Given the description of an element on the screen output the (x, y) to click on. 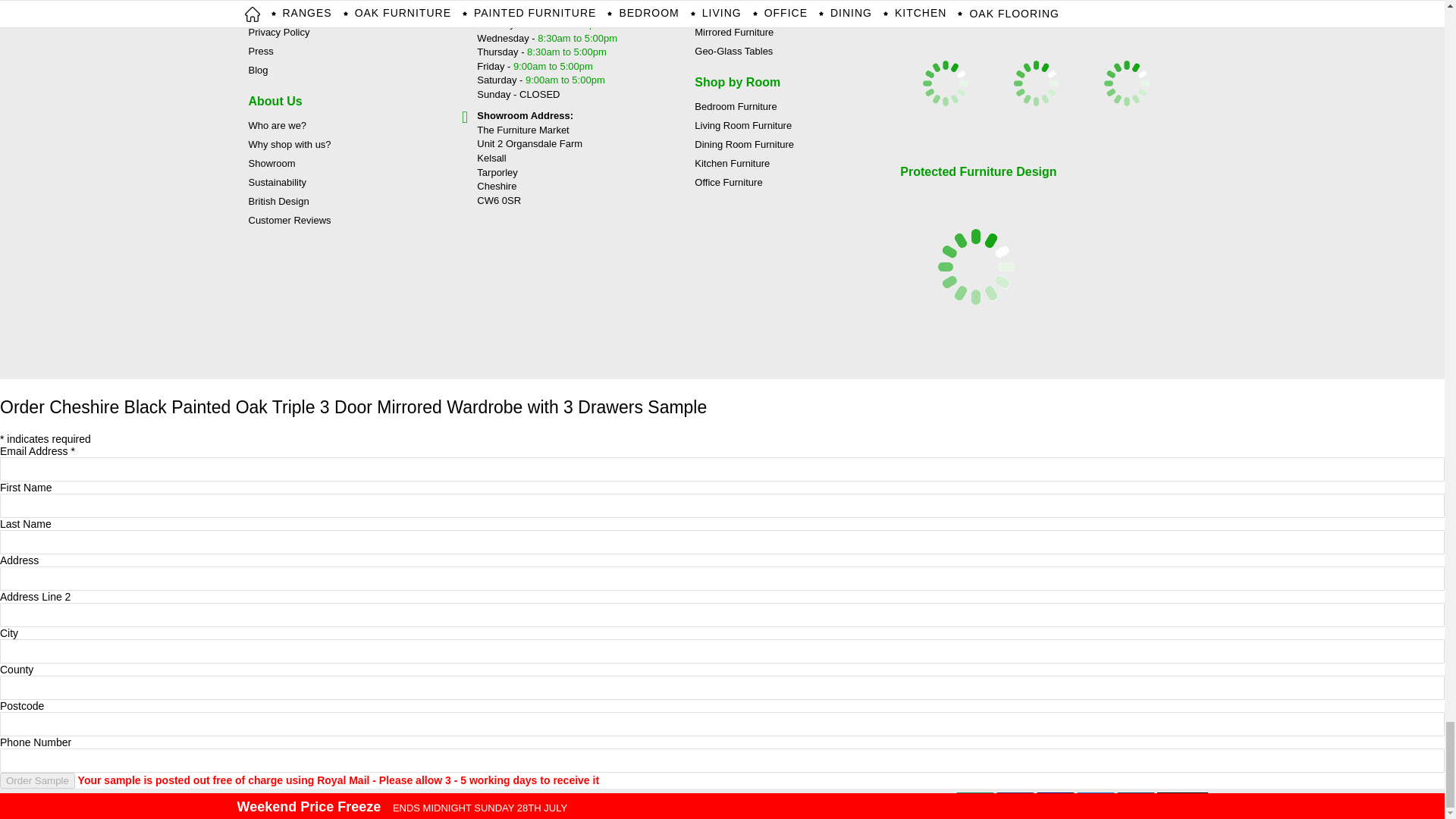
Order Sample (37, 780)
